Given the description of an element on the screen output the (x, y) to click on. 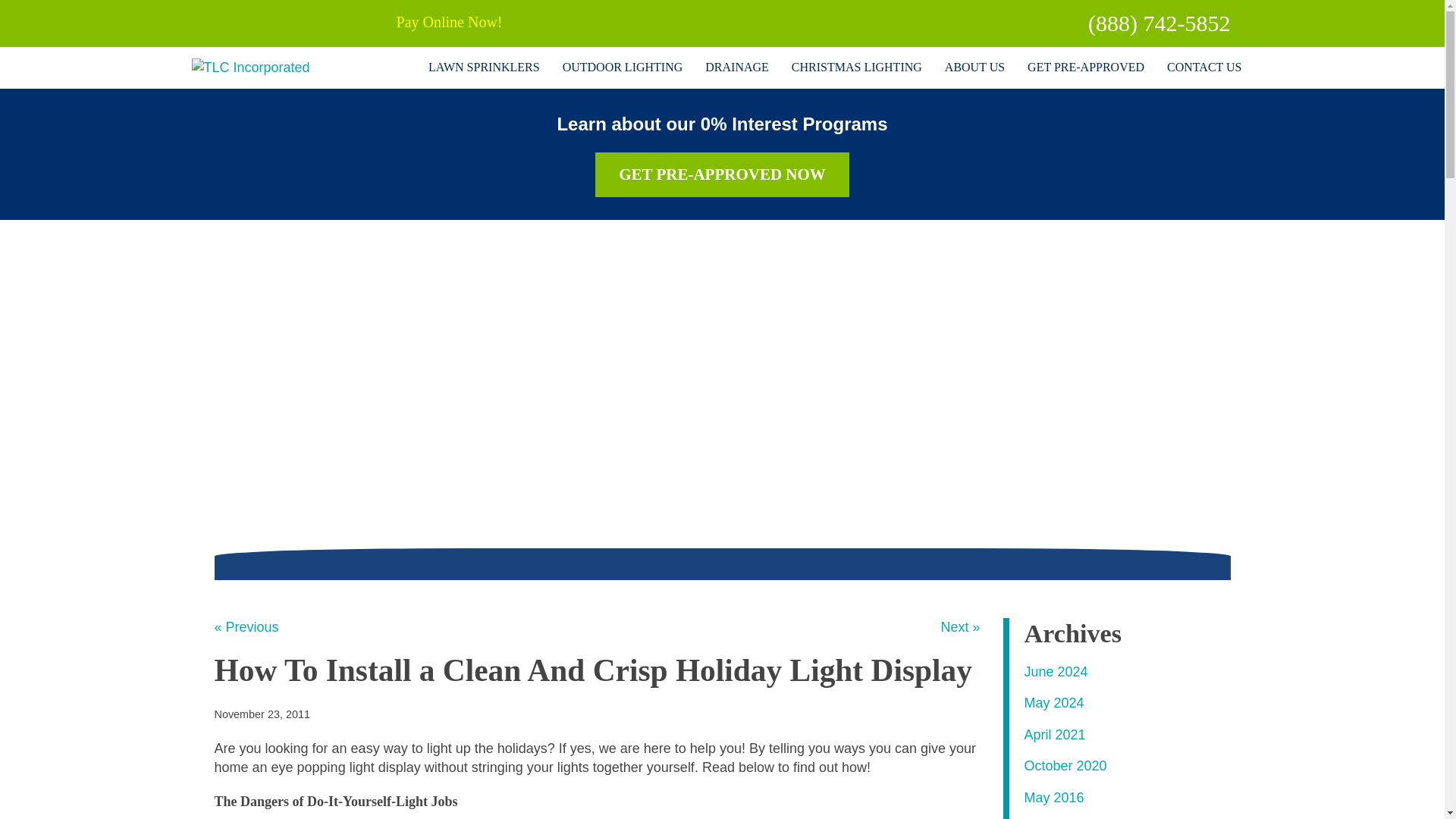
LAWN SPRINKLERS (483, 67)
OUTDOOR LIGHTING (622, 67)
CONTACT US (1204, 67)
GET PRE-APPROVED (1086, 67)
ABOUT US (974, 67)
DRAINAGE (737, 67)
TLC Incorporated (249, 67)
CHRISTMAS LIGHTING (856, 67)
GET PRE-APPROVED NOW (722, 174)
Pay Online Now! (449, 23)
